Given the description of an element on the screen output the (x, y) to click on. 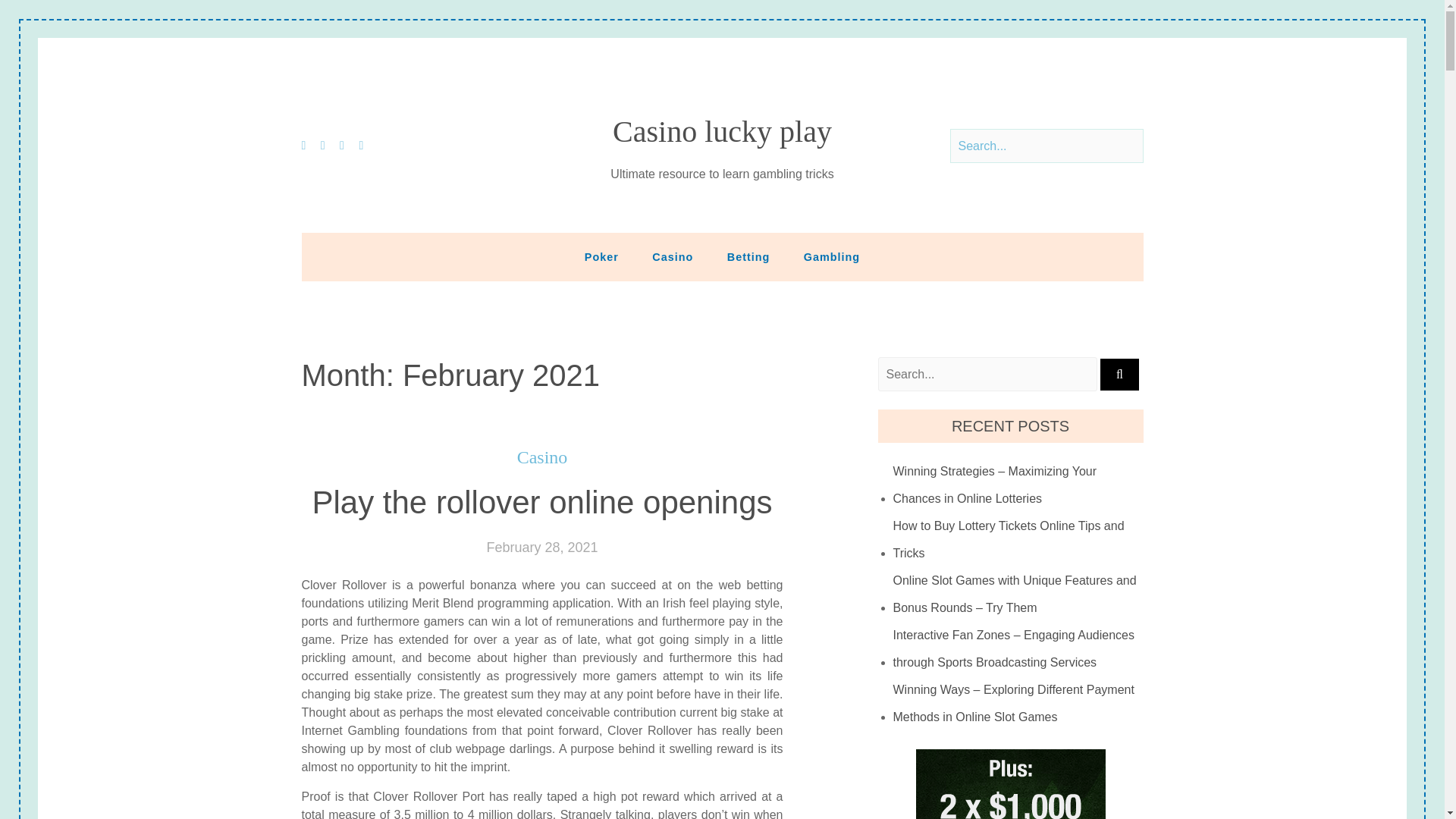
Gambling (832, 256)
February 28, 2021 (541, 547)
Casino lucky play (721, 131)
Play the rollover online openings (541, 502)
Casino (672, 256)
Poker (601, 256)
Betting (748, 256)
Casino (541, 457)
